Given the description of an element on the screen output the (x, y) to click on. 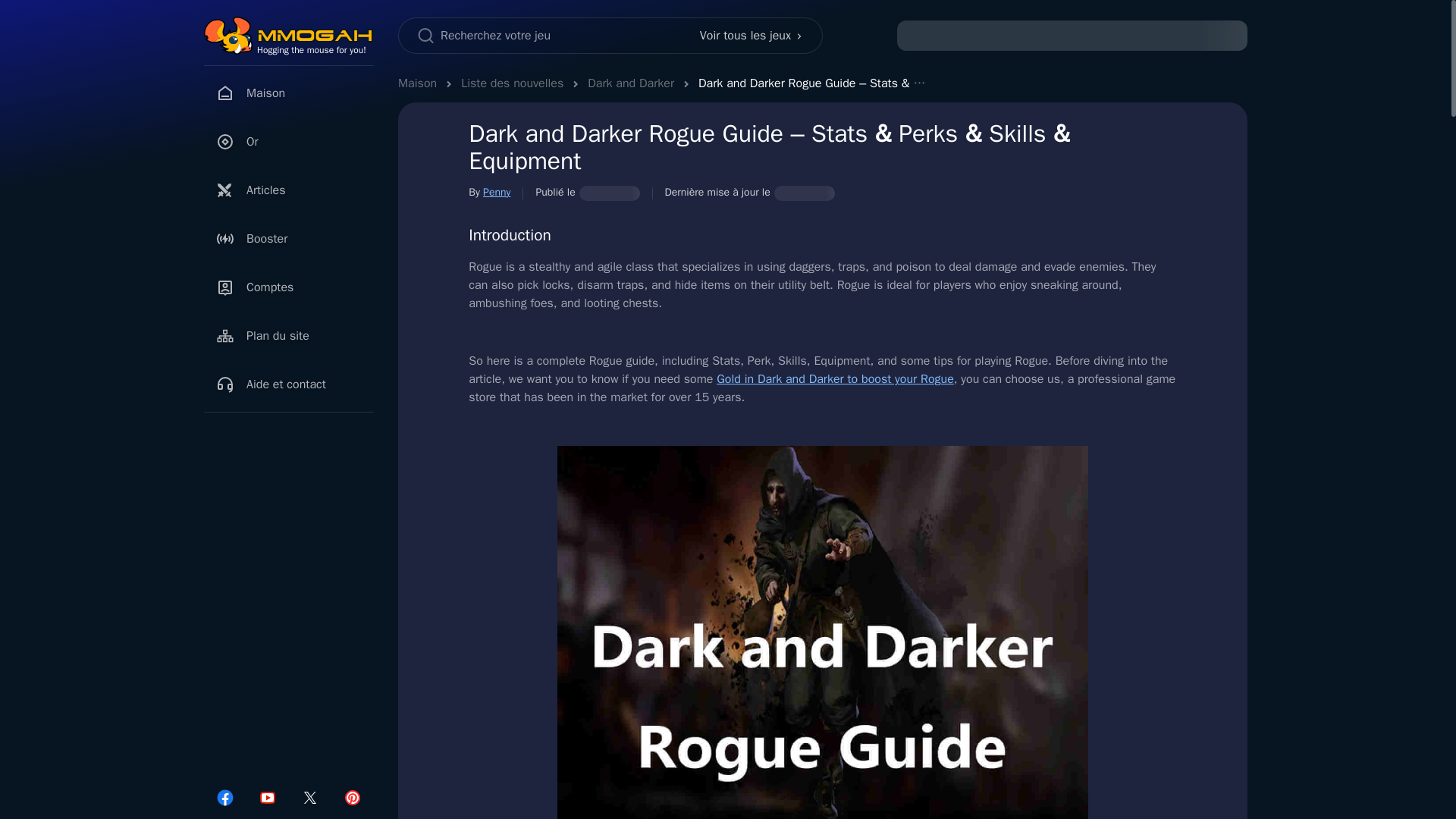
Pinterest (352, 797)
Facebook (224, 797)
Aide et contact (288, 384)
Booster (288, 238)
Dark and Darker (631, 83)
Youtube (267, 797)
Comptes (288, 287)
Twitter (309, 797)
Or (288, 141)
Maison (416, 83)
